Given the description of an element on the screen output the (x, y) to click on. 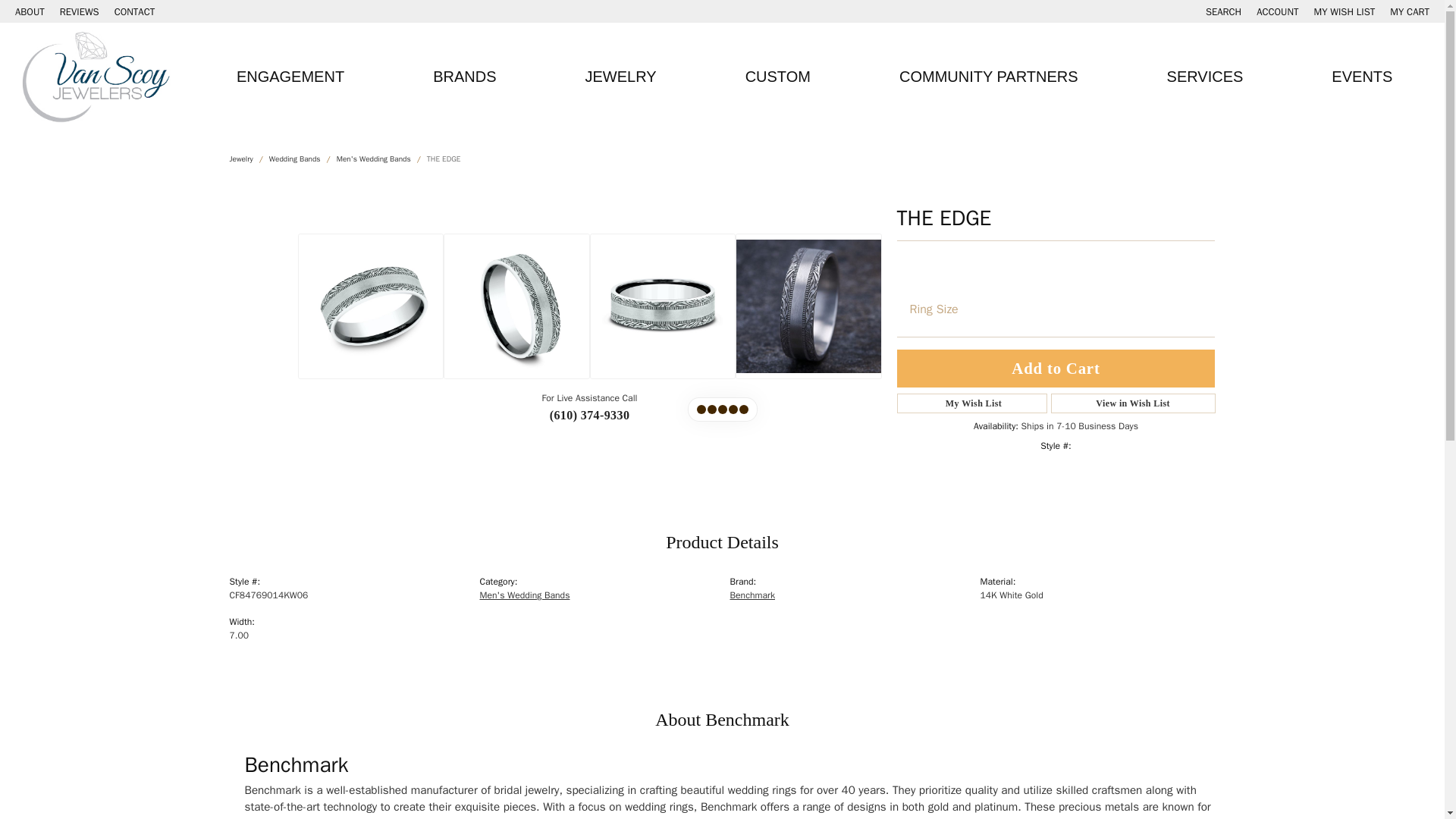
Skip to main content (7, 3)
BRANDS (1223, 11)
ENGAGEMENT (135, 11)
